Given the description of an element on the screen output the (x, y) to click on. 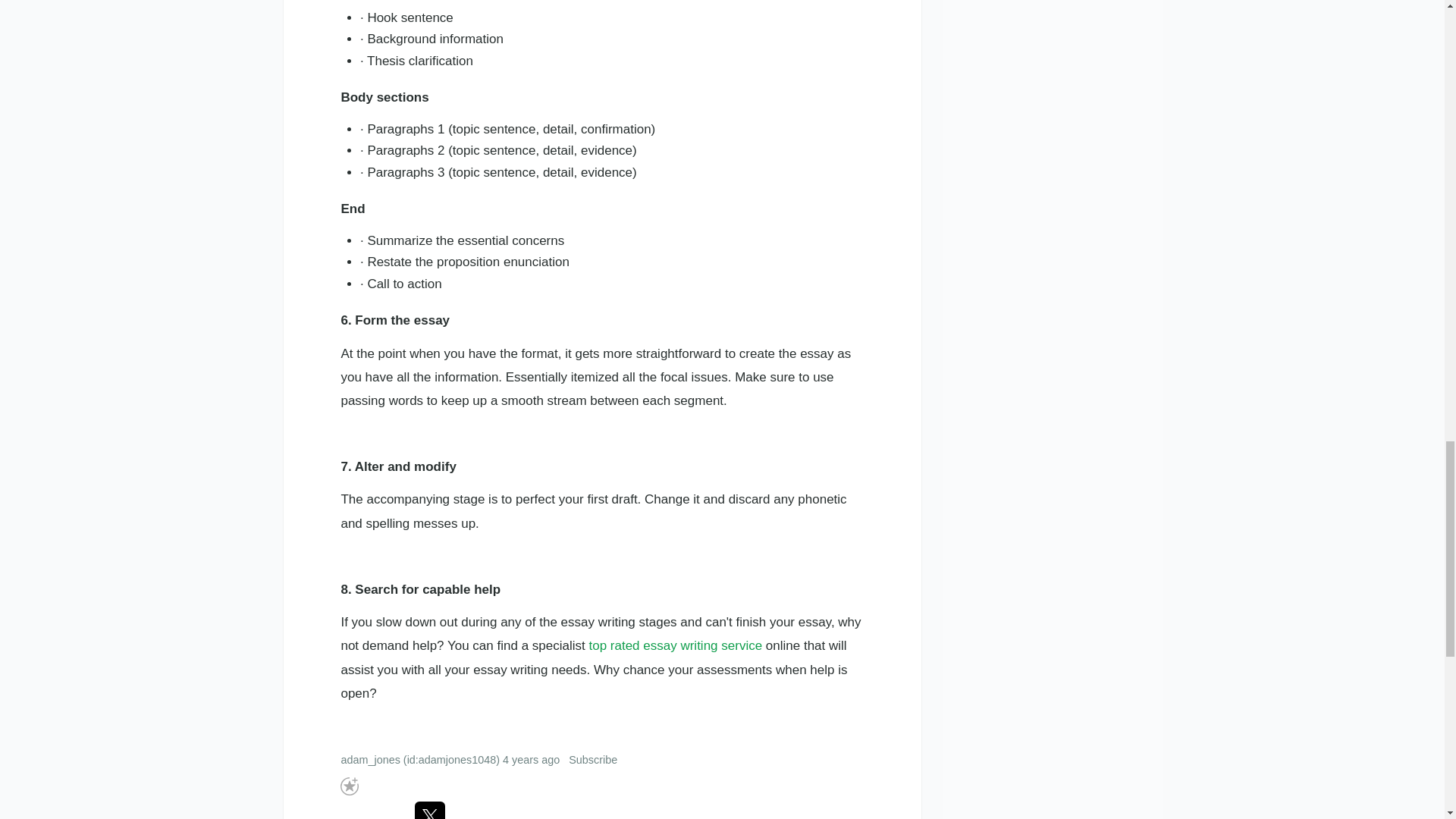
2020-08-12T11:25:58Z (530, 759)
Bookmark this entry on Hatena::Bookmark (372, 810)
top rated essay writing service (674, 645)
Subscribe (593, 759)
4 years ago (530, 759)
